Given the description of an element on the screen output the (x, y) to click on. 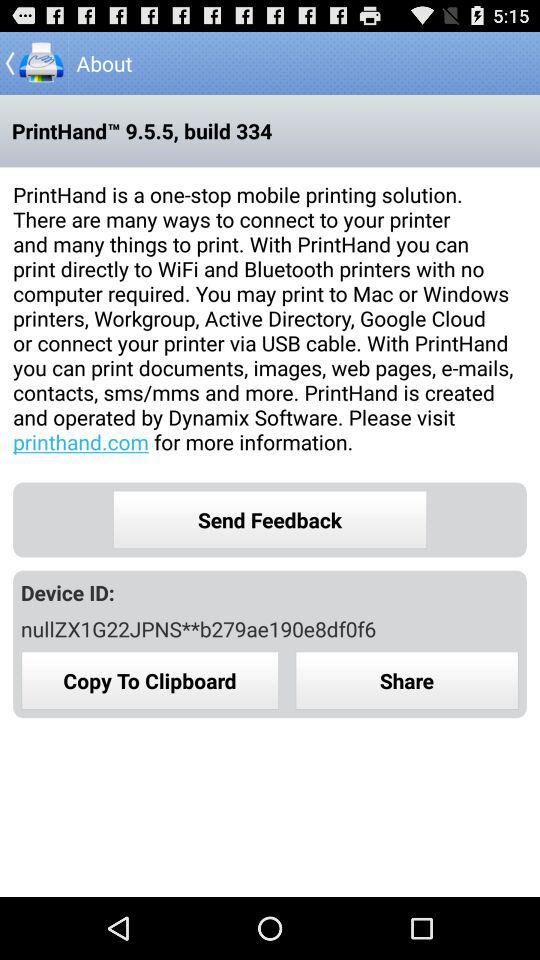
swipe to the send feedback item (269, 519)
